Given the description of an element on the screen output the (x, y) to click on. 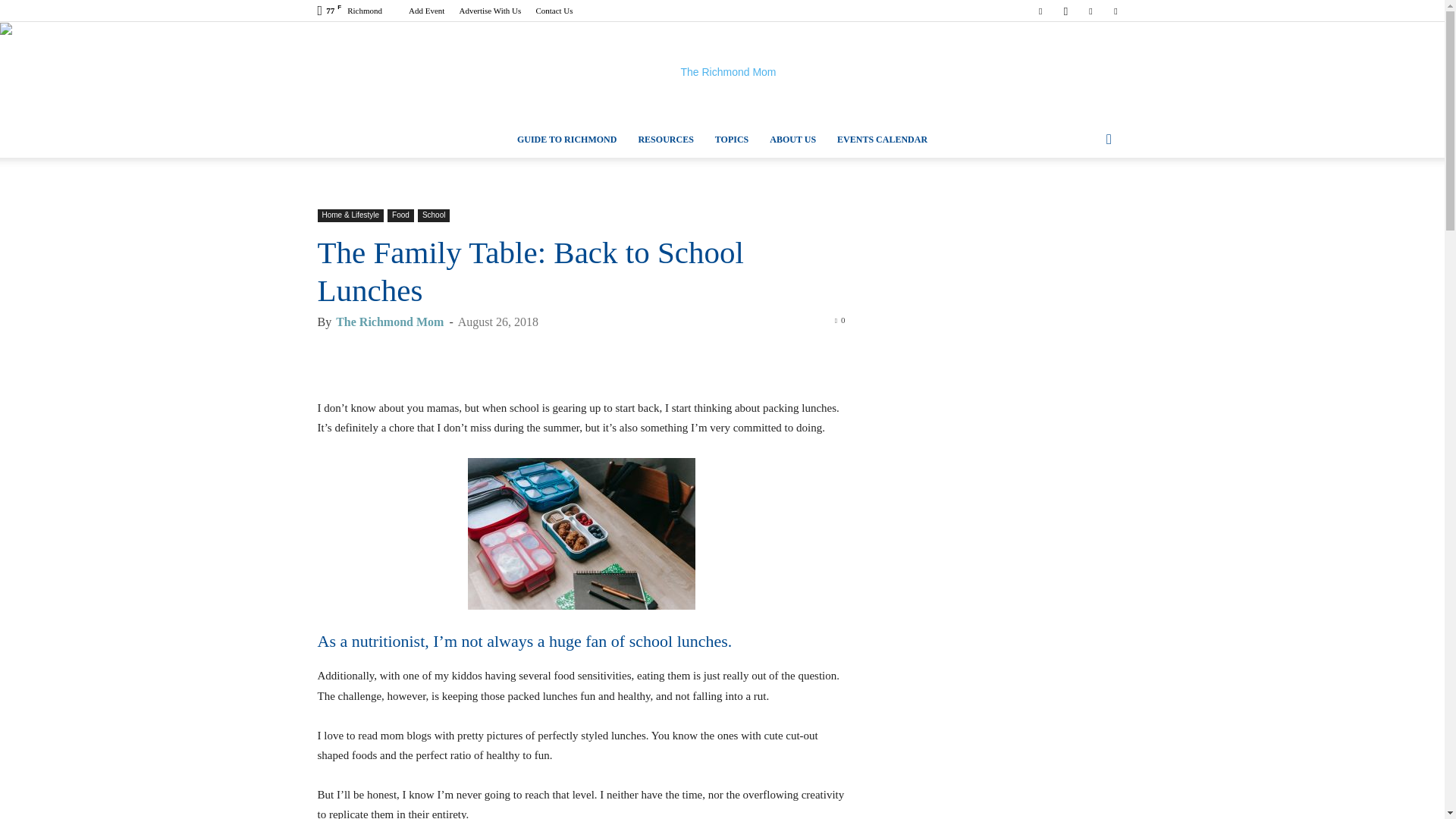
Facebook (1040, 10)
Pinterest (1090, 10)
Advertise With Us (489, 10)
Add Event (426, 10)
Instagram (1065, 10)
Twitter (1114, 10)
Contact Us (553, 10)
